Given the description of an element on the screen output the (x, y) to click on. 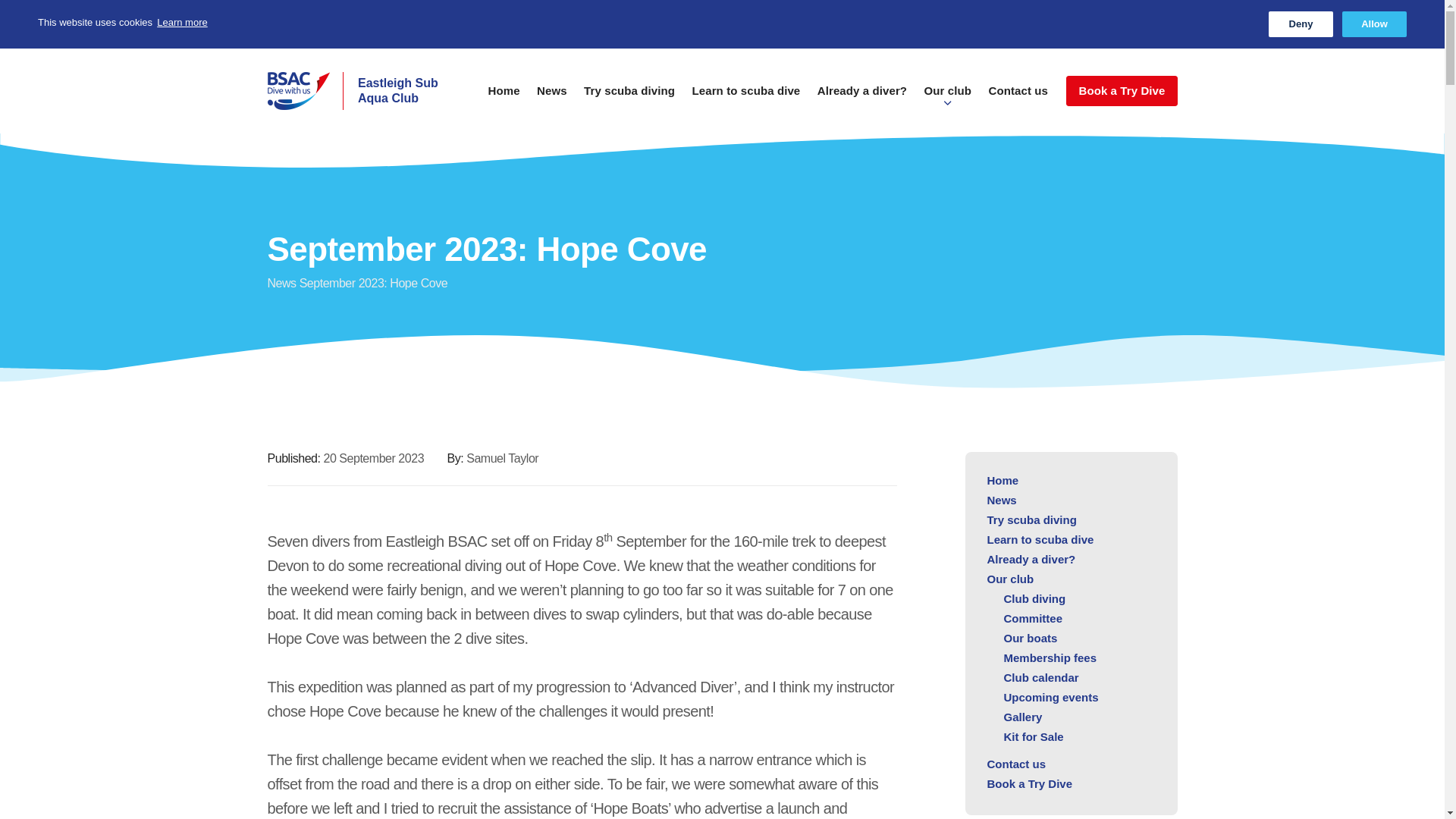
Learn to scuba dive (746, 98)
Our club (947, 98)
News (280, 282)
Contact us (1018, 98)
Learn more (182, 22)
Allow (1374, 23)
Already a diver? (861, 98)
Book a Try Dive (368, 90)
Deny (1120, 91)
Home (1300, 23)
News (503, 98)
Try scuba diving (552, 98)
